Given the description of an element on the screen output the (x, y) to click on. 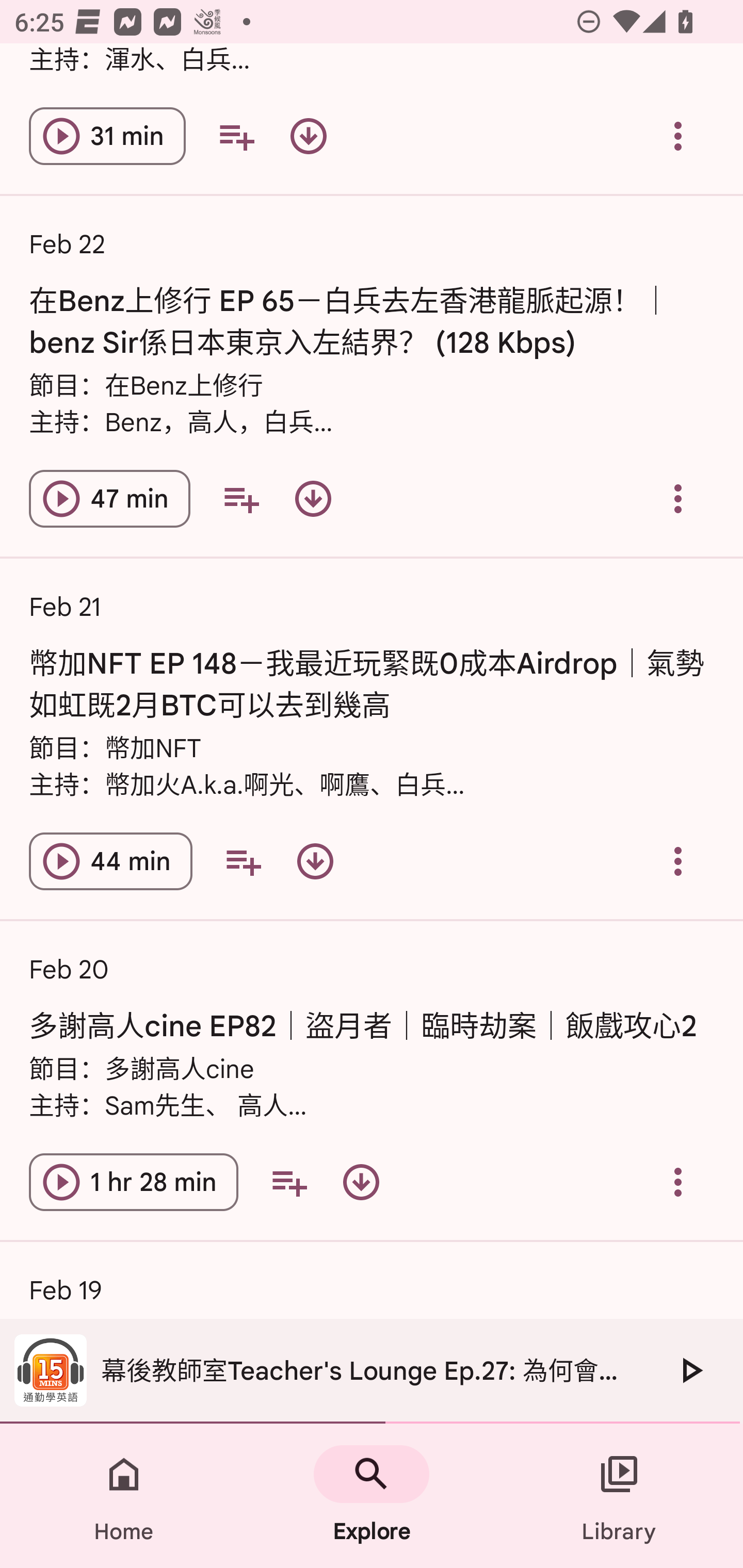
Add to your queue (235, 135)
Download episode (308, 135)
Overflow menu (677, 135)
Add to your queue (241, 498)
Download episode (313, 498)
Overflow menu (677, 498)
Add to your queue (242, 861)
Download episode (315, 861)
Overflow menu (677, 861)
Add to your queue (288, 1182)
Download episode (361, 1182)
Overflow menu (677, 1182)
Play (690, 1370)
Home (123, 1495)
Library (619, 1495)
